Given the description of an element on the screen output the (x, y) to click on. 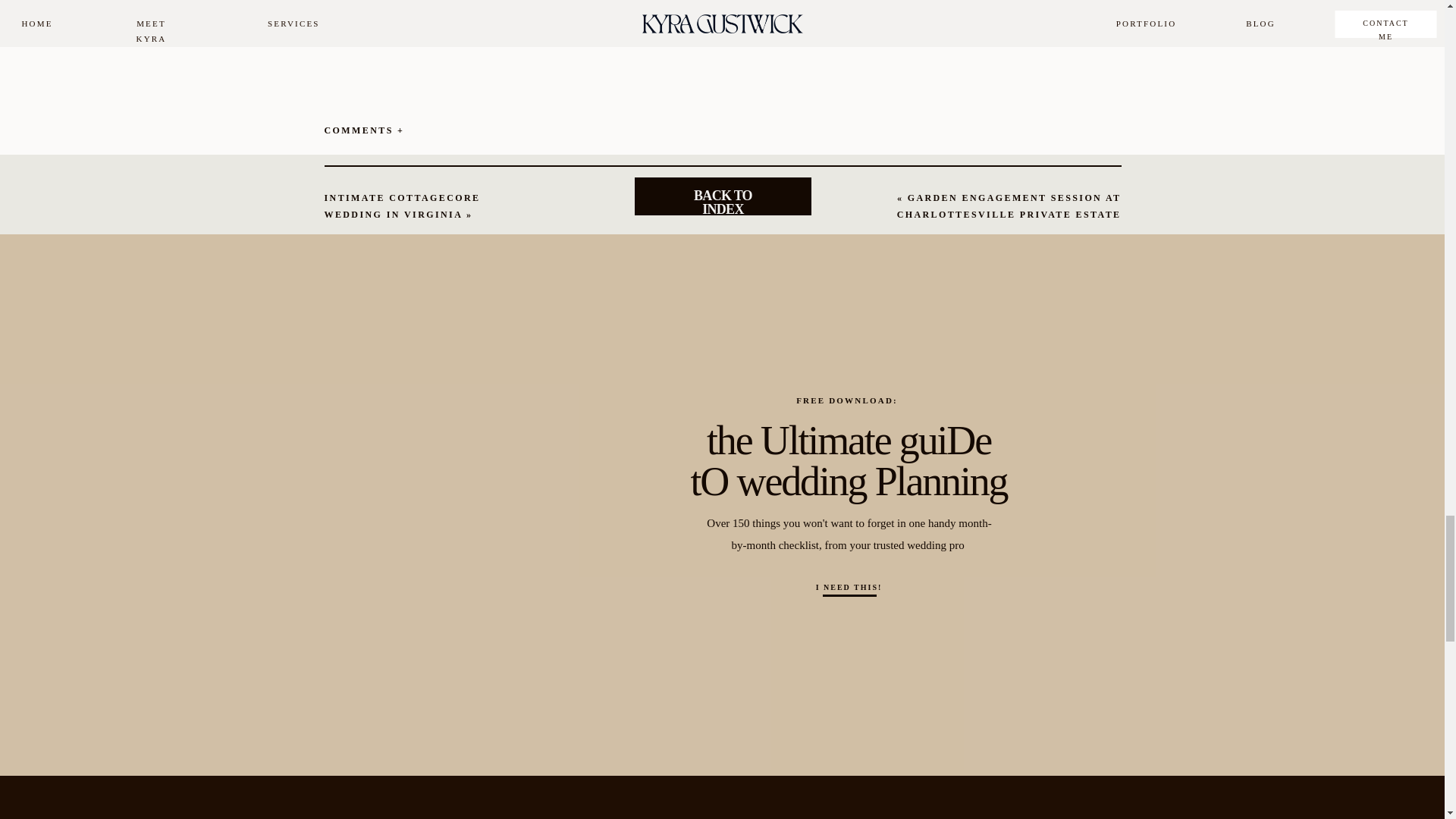
INTIMATE COTTAGECORE WEDDING IN VIRGINIA (402, 206)
GARDEN ENGAGEMENT SESSION AT CHARLOTTESVILLE PRIVATE ESTATE (1008, 206)
I NEED THIS! (848, 587)
BACK TO INDEX (723, 195)
